Given the description of an element on the screen output the (x, y) to click on. 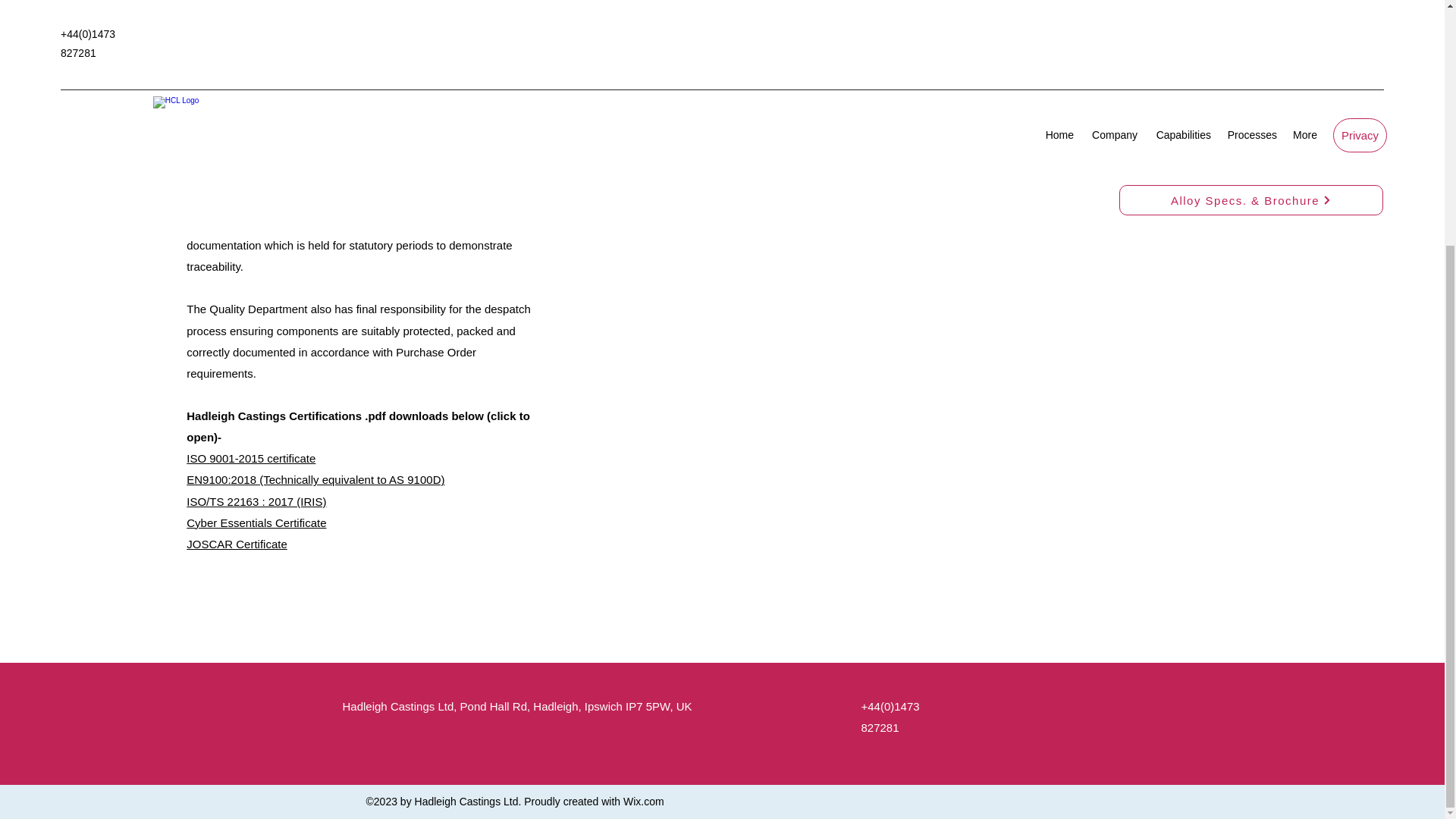
Cyber Essentials Certificate (256, 522)
ISO 9001-2015 certificate (250, 458)
JOSCAR Certificate (236, 543)
